Given the description of an element on the screen output the (x, y) to click on. 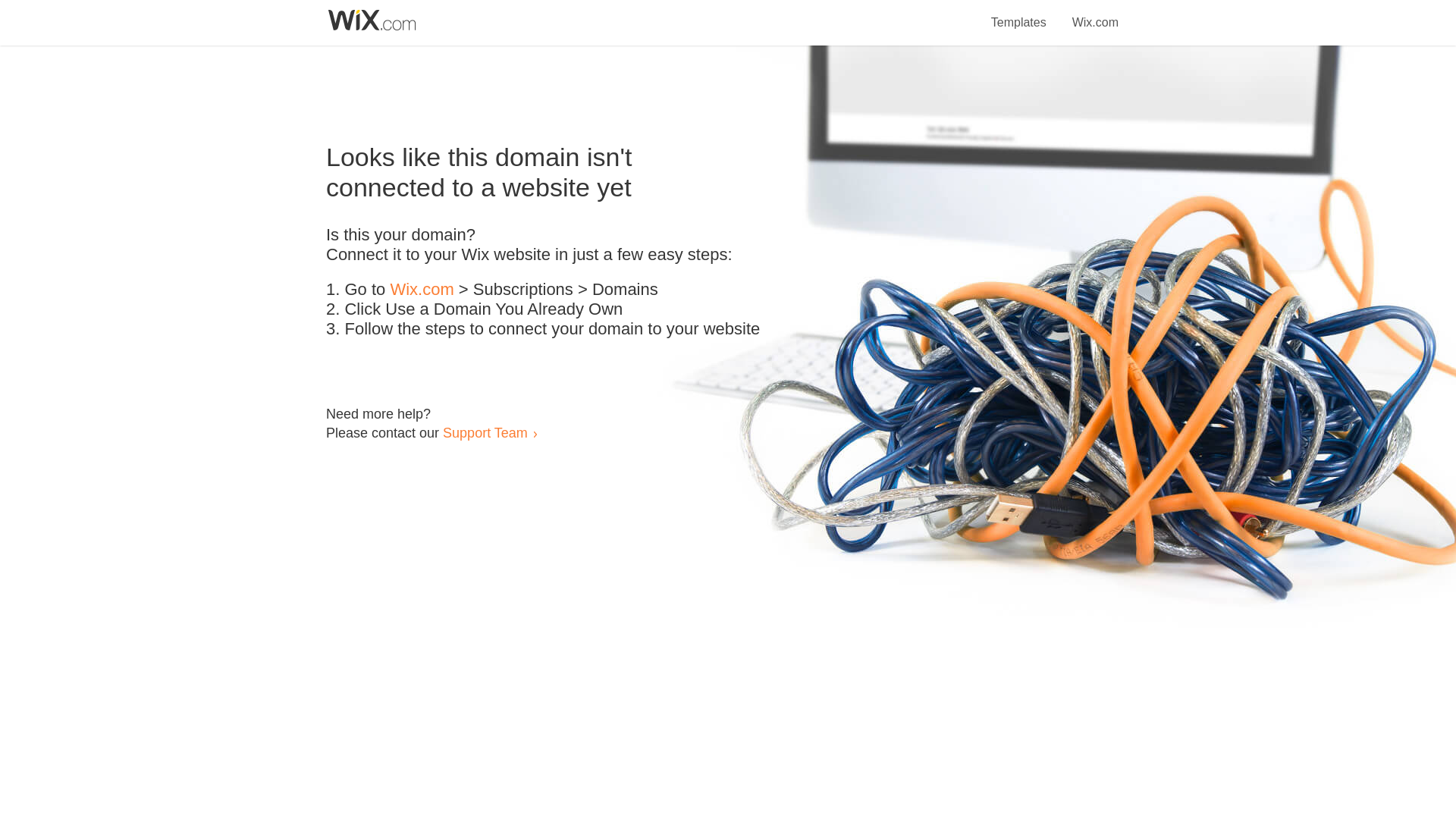
Wix.com (421, 289)
Templates (1018, 14)
Wix.com (1095, 14)
Support Team (484, 432)
